Given the description of an element on the screen output the (x, y) to click on. 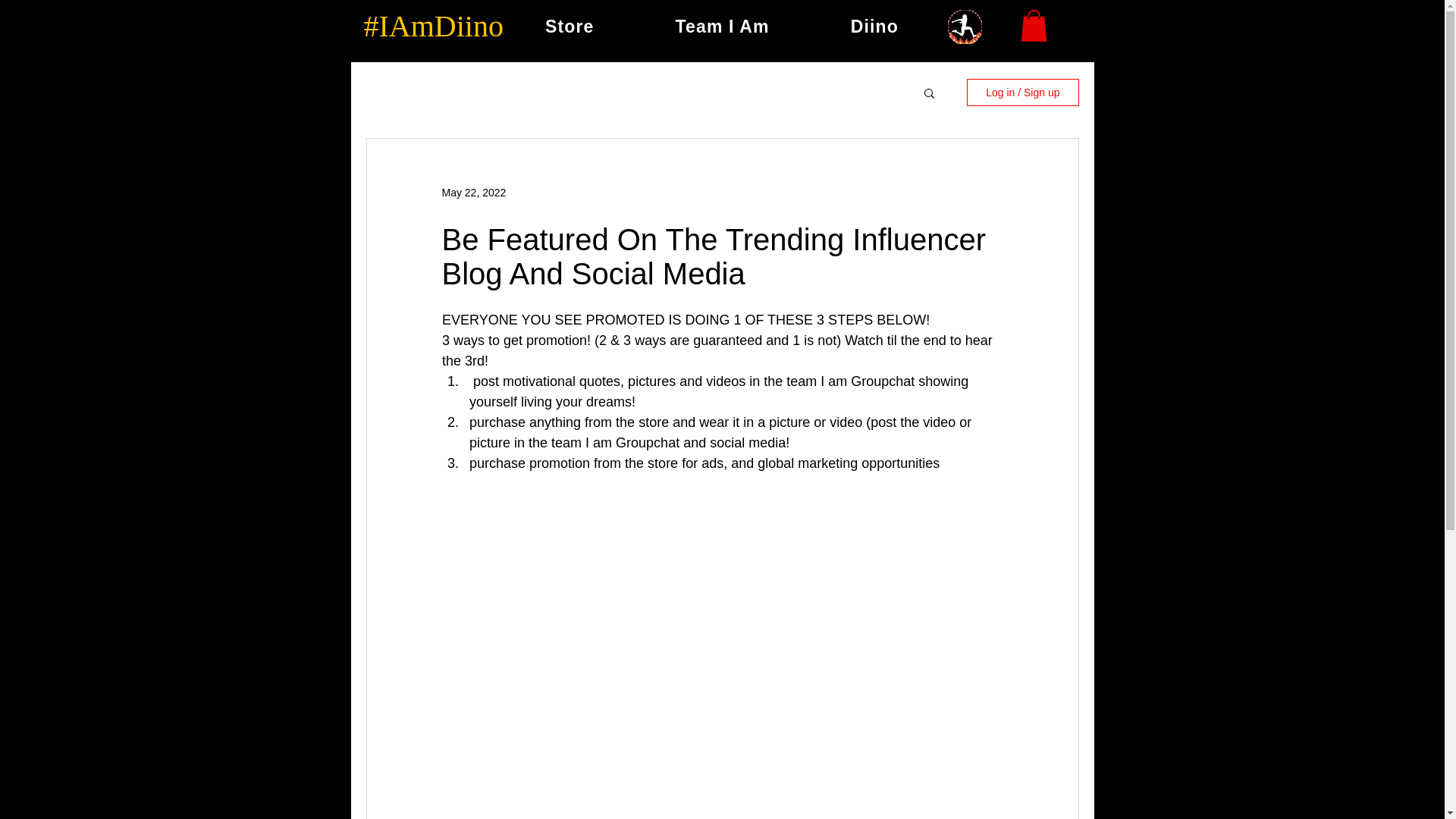
Diino (874, 26)
Team I Am (721, 26)
Store (569, 26)
May 22, 2022 (473, 192)
